Given the description of an element on the screen output the (x, y) to click on. 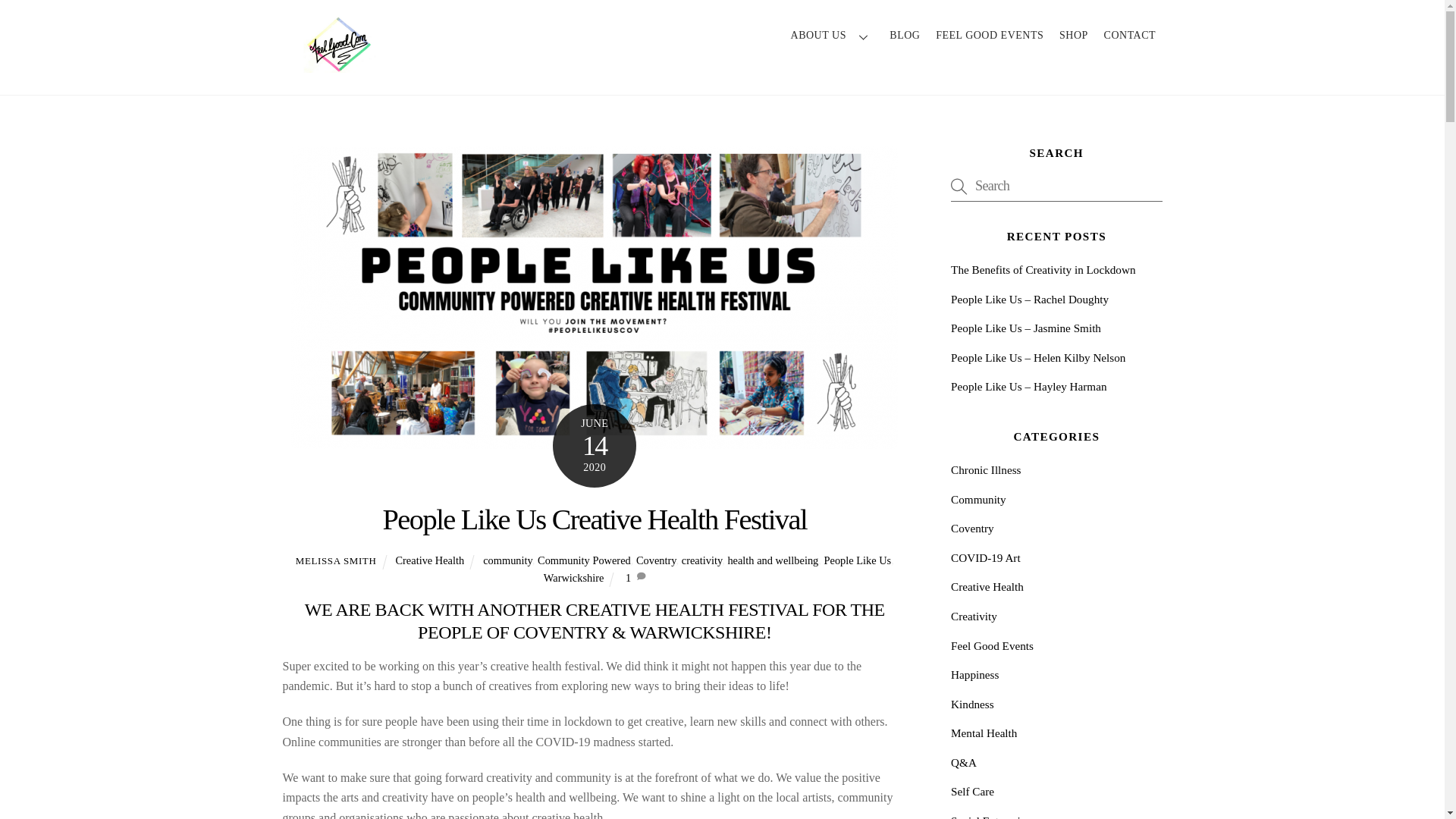
Coventry (656, 560)
health and wellbeing (772, 560)
FEEL GOOD EVENTS (989, 35)
People Like Us Creative Health Festival (595, 519)
creativity (701, 560)
Feel Good Com (339, 65)
BLOG (904, 35)
ABOUT US (832, 35)
Creative Health (429, 560)
SHOP (1073, 35)
